Given the description of an element on the screen output the (x, y) to click on. 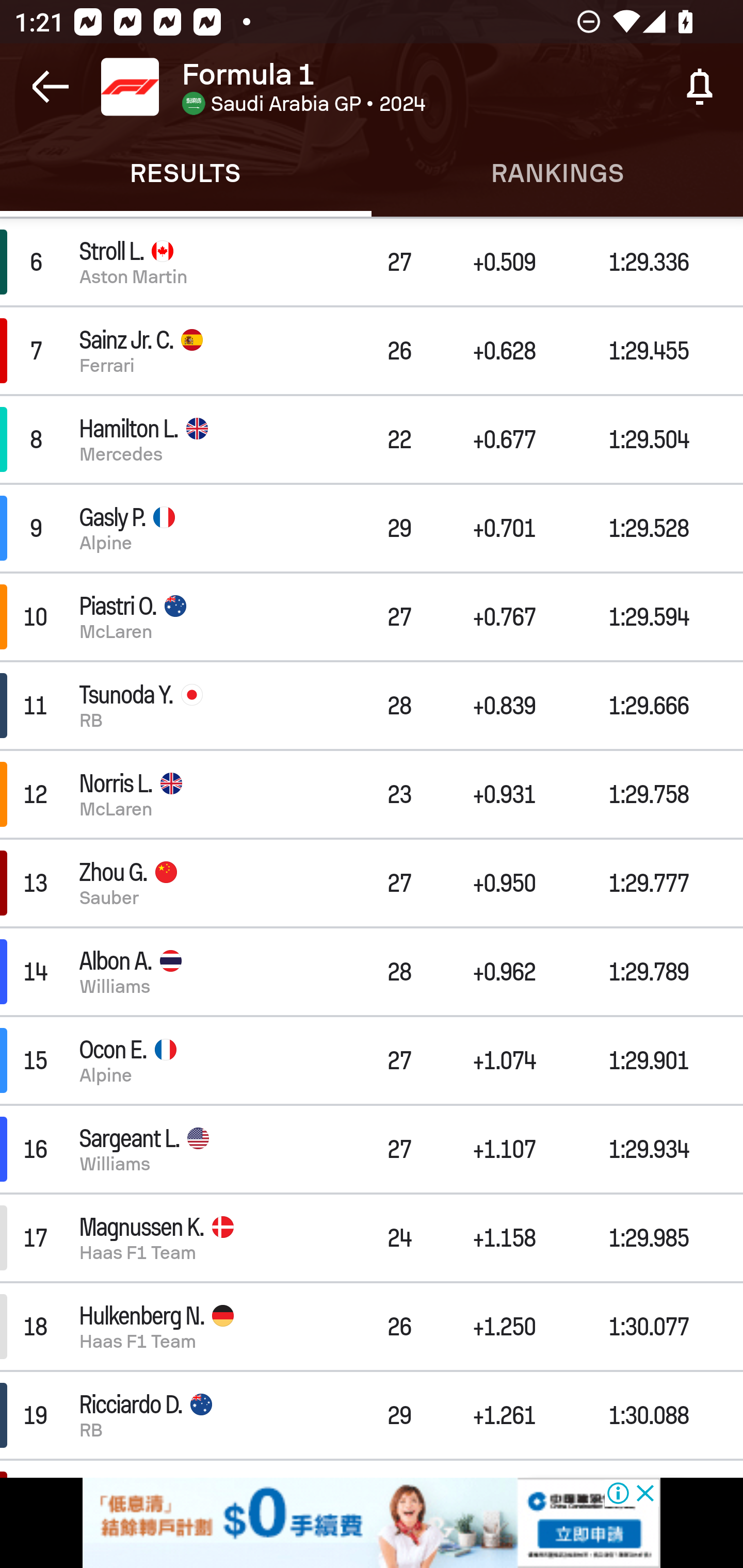
Navigate up (50, 86)
Rankings RANKINGS (557, 173)
6 Stroll L. Aston Martin 27 +0.509 1:29.336 (371, 261)
7 Sainz Jr. C. Ferrari 26 +0.628 1:29.455 (371, 350)
8 Hamilton L. Mercedes 22 +0.677 1:29.504 (371, 439)
9 Gasly P. Alpine 29 +0.701 1:29.528 (371, 527)
10 Piastri O. McLaren 27 +0.767 1:29.594 (371, 616)
11 Tsunoda Y. RB 28 +0.839 1:29.666 (371, 705)
12 Norris L. McLaren 23 +0.931 1:29.758 (371, 794)
13 Zhou G. Sauber 27 +0.950 1:29.777 (371, 883)
14 Albon A. Williams 28 +0.962 1:29.789 (371, 971)
15 Ocon E. Alpine 27 +1.074 1:29.901 (371, 1060)
16 Sargeant L. Williams 27 +1.107 1:29.934 (371, 1149)
17 Magnussen K. Haas F1 Team 24 +1.158 1:29.985 (371, 1237)
18 Hulkenberg N. Haas F1 Team 26 +1.250 1:30.077 (371, 1326)
19 Ricciardo D. RB 29 +1.261 1:30.088 (371, 1415)
Advertisement (371, 1522)
